Given the description of an element on the screen output the (x, y) to click on. 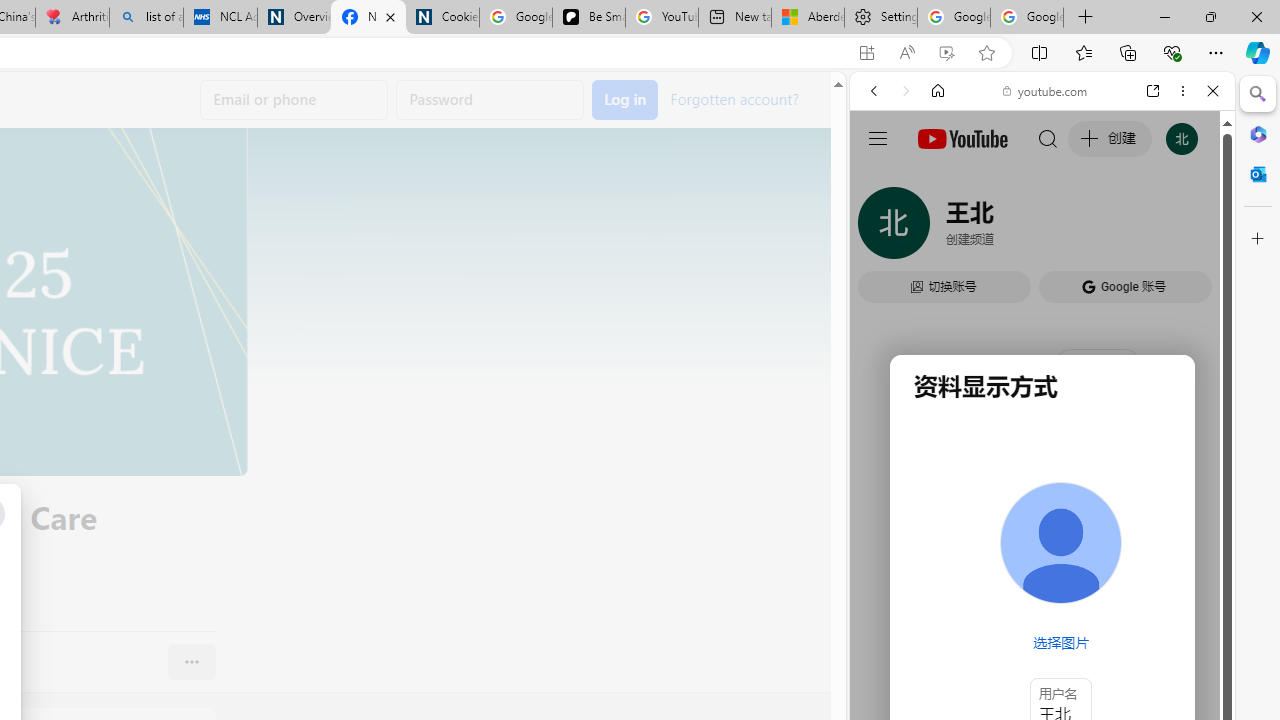
Show More Music (1164, 546)
Search videos from youtube.com (1005, 657)
App available. Install Facebook (867, 53)
